Given the description of an element on the screen output the (x, y) to click on. 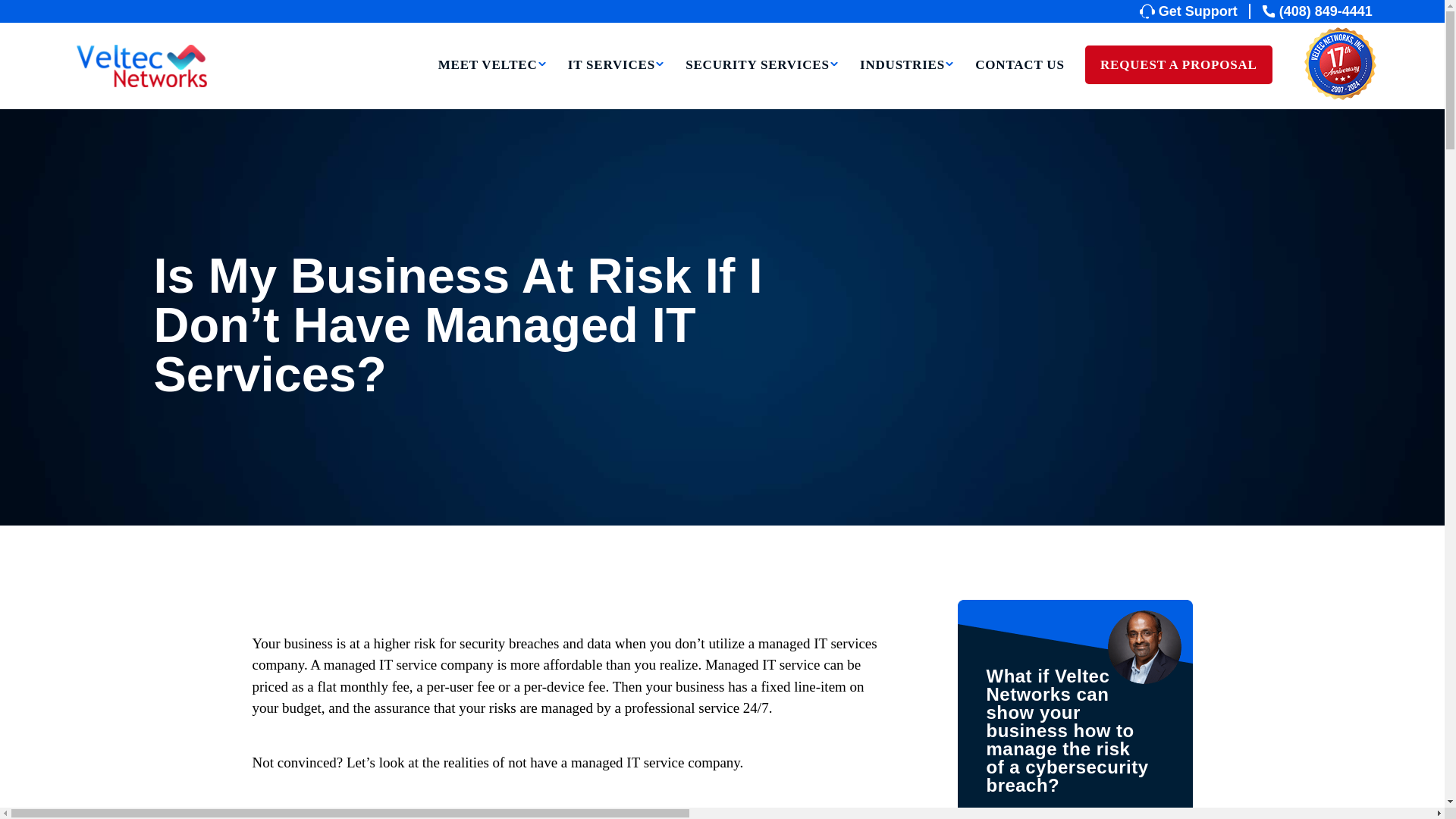
IT SERVICES (616, 84)
INDUSTRIES (907, 84)
MEET VELTEC (492, 84)
REQUEST A PROPOSAL (1178, 64)
CONTACT US (1019, 84)
SECURITY SERVICES (762, 84)
Get Support (1195, 11)
